Given the description of an element on the screen output the (x, y) to click on. 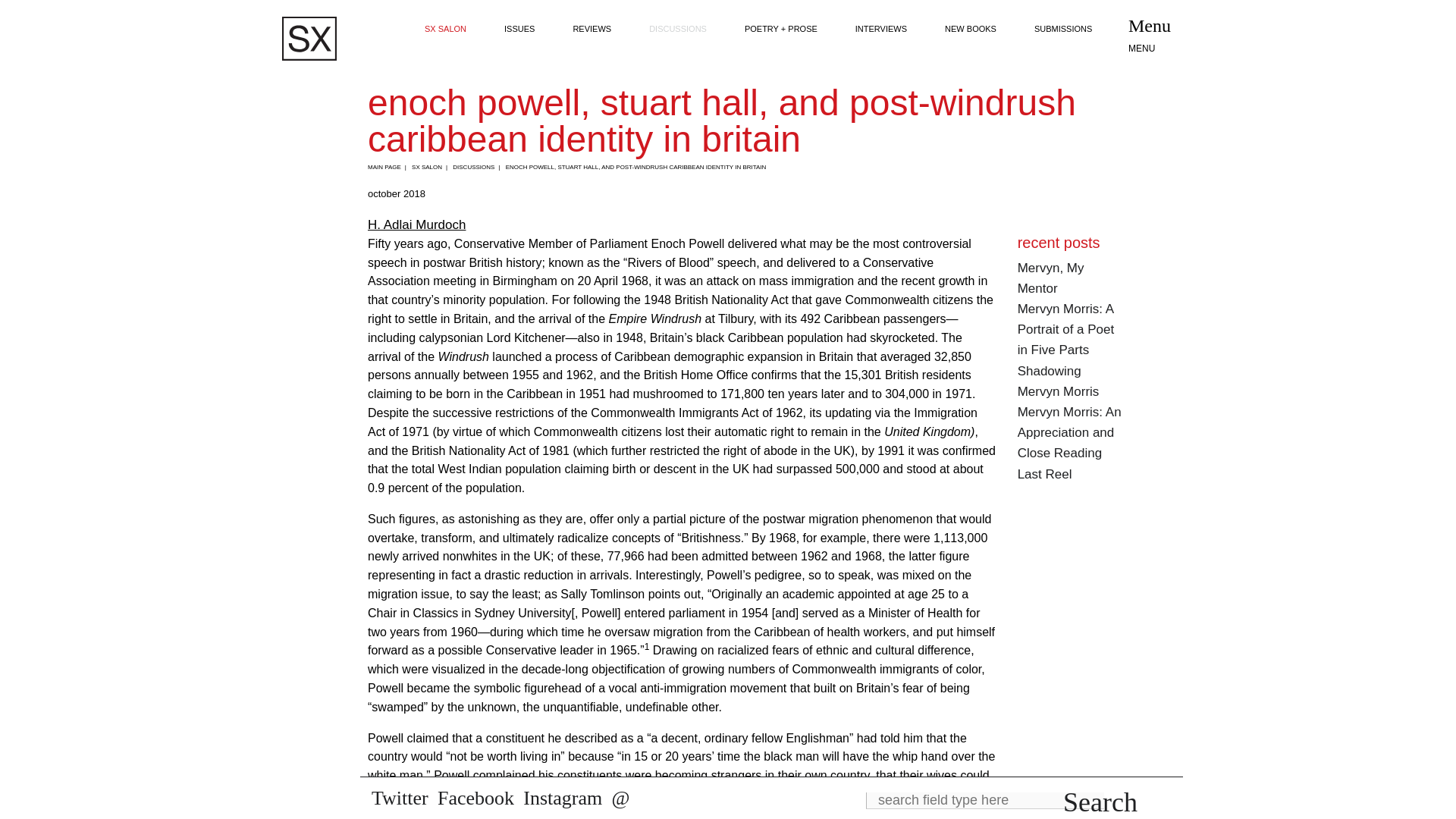
Search (1099, 802)
H. Adlai Murdoch (416, 224)
SX SALON (445, 29)
DISCUSSIONS (677, 29)
Enter the terms you wish to search for. (984, 800)
Mervyn Morris: An Appreciation and Close Reading (1069, 432)
Home (309, 39)
Mervyn Morris: A Portrait of a Poet in Five Parts (1066, 329)
INTERVIEWS (881, 29)
Instagram (562, 798)
Menu (1155, 36)
Shadowing Mervyn Morris (1058, 380)
SUBMISSIONS (1062, 29)
Mervyn, My Mentor (1050, 278)
